Given the description of an element on the screen output the (x, y) to click on. 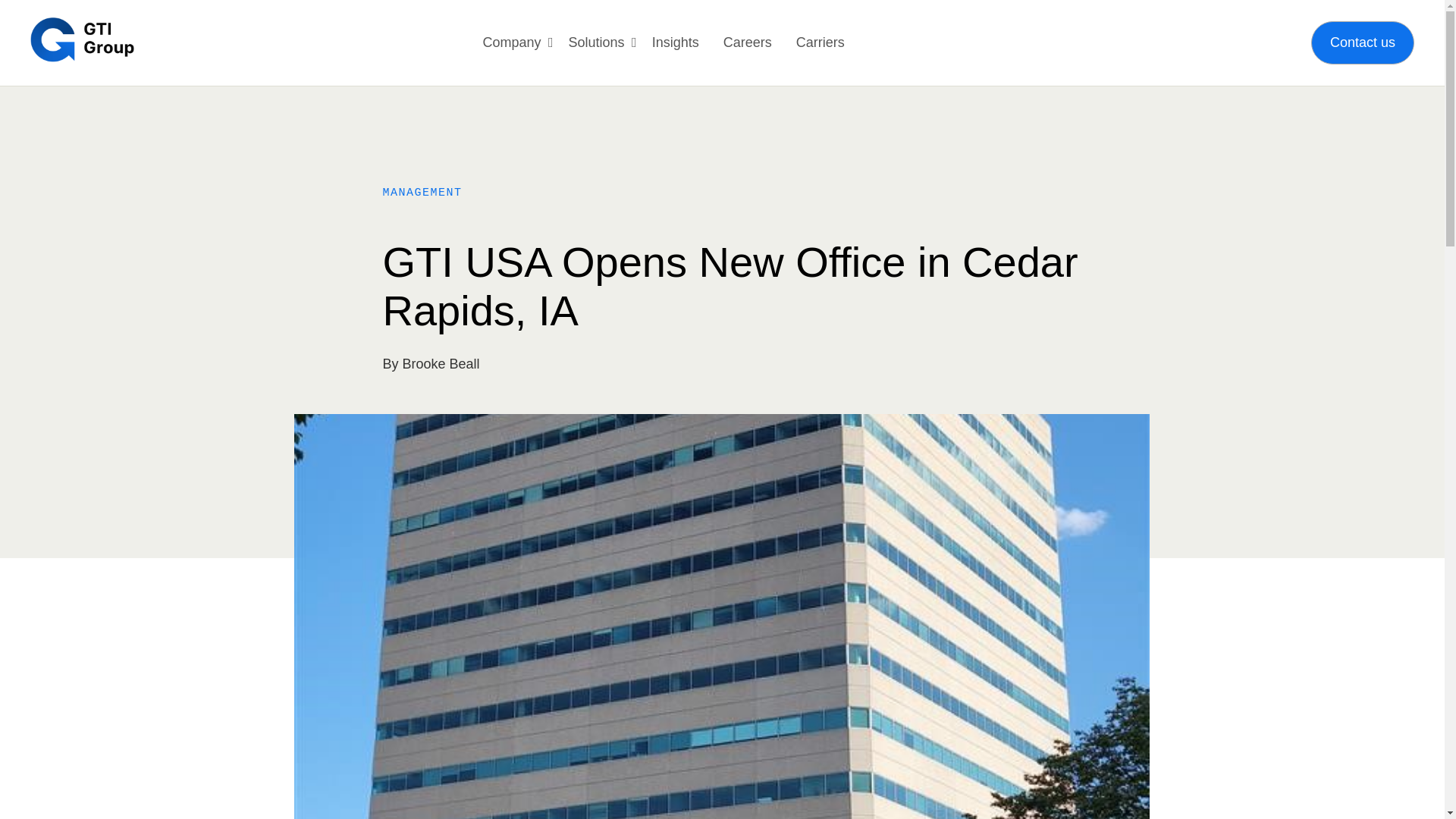
Contact us (1362, 42)
Carriers (820, 42)
GTI Group (81, 39)
Company (512, 42)
Insights (675, 42)
Solutions (596, 42)
Careers (747, 42)
